Given the description of an element on the screen output the (x, y) to click on. 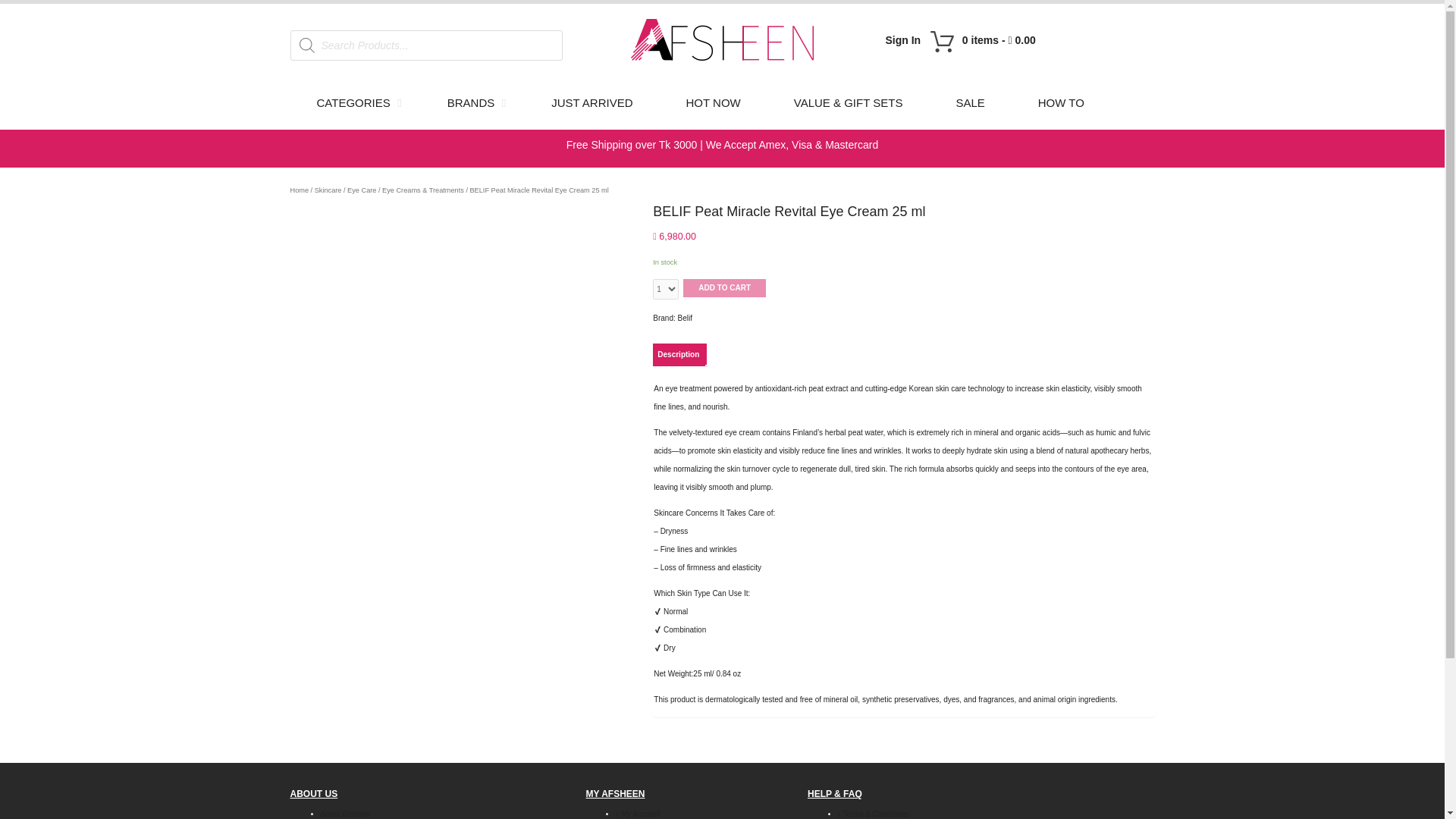
Qty (665, 289)
Sign In (902, 39)
View your shopping cart (998, 39)
